Given the description of an element on the screen output the (x, y) to click on. 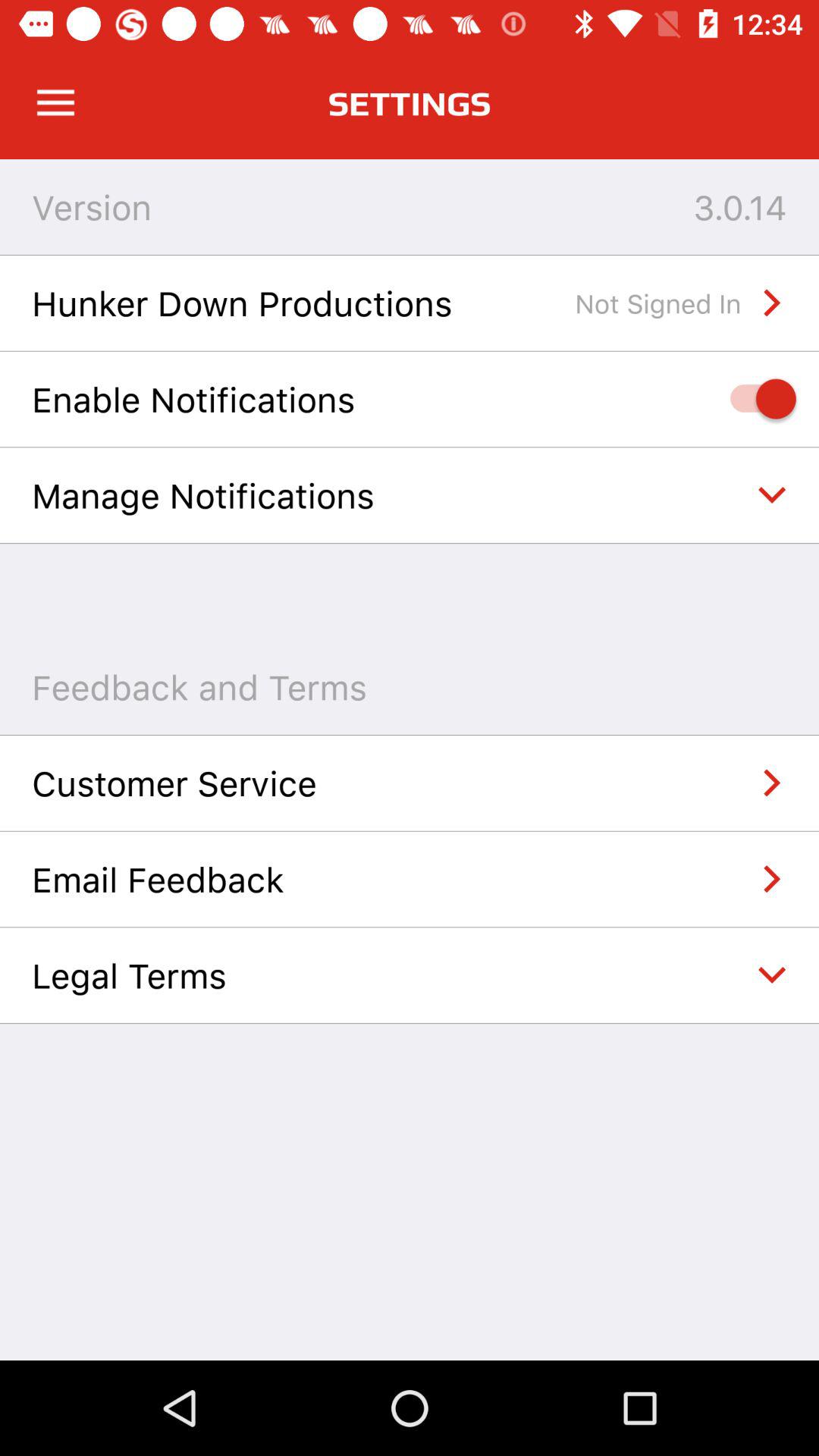
open app menu (55, 103)
